Given the description of an element on the screen output the (x, y) to click on. 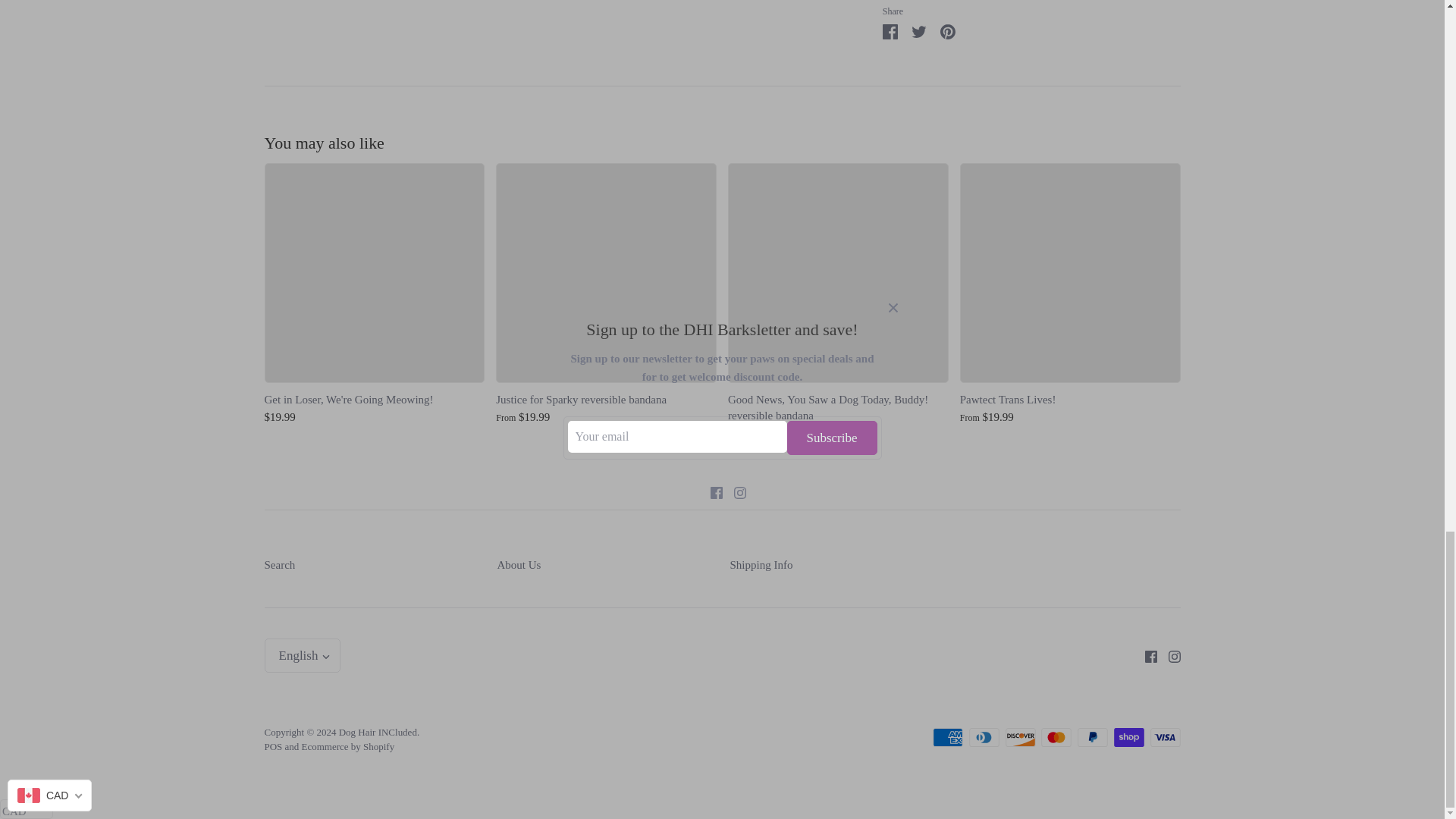
Shop Pay (1128, 737)
Diners Club (983, 737)
Visa (1164, 737)
Discover (1020, 737)
PayPal (1092, 737)
American Express (947, 737)
Mastercard (1056, 737)
